Given the description of an element on the screen output the (x, y) to click on. 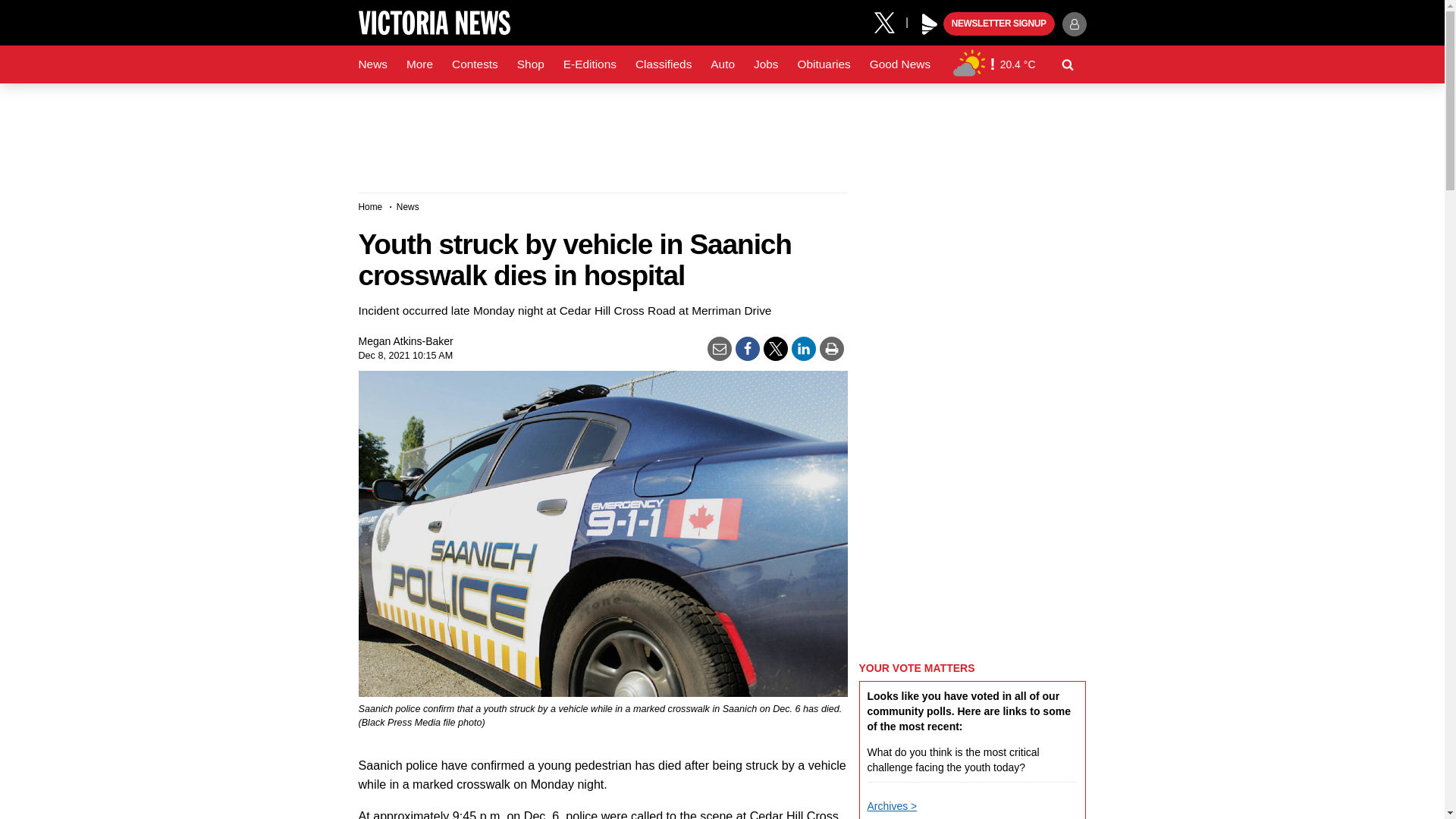
Black Press Media (929, 24)
X (889, 21)
Play (929, 24)
News (372, 64)
NEWSLETTER SIGNUP (998, 24)
3rd party ad content (721, 131)
